Given the description of an element on the screen output the (x, y) to click on. 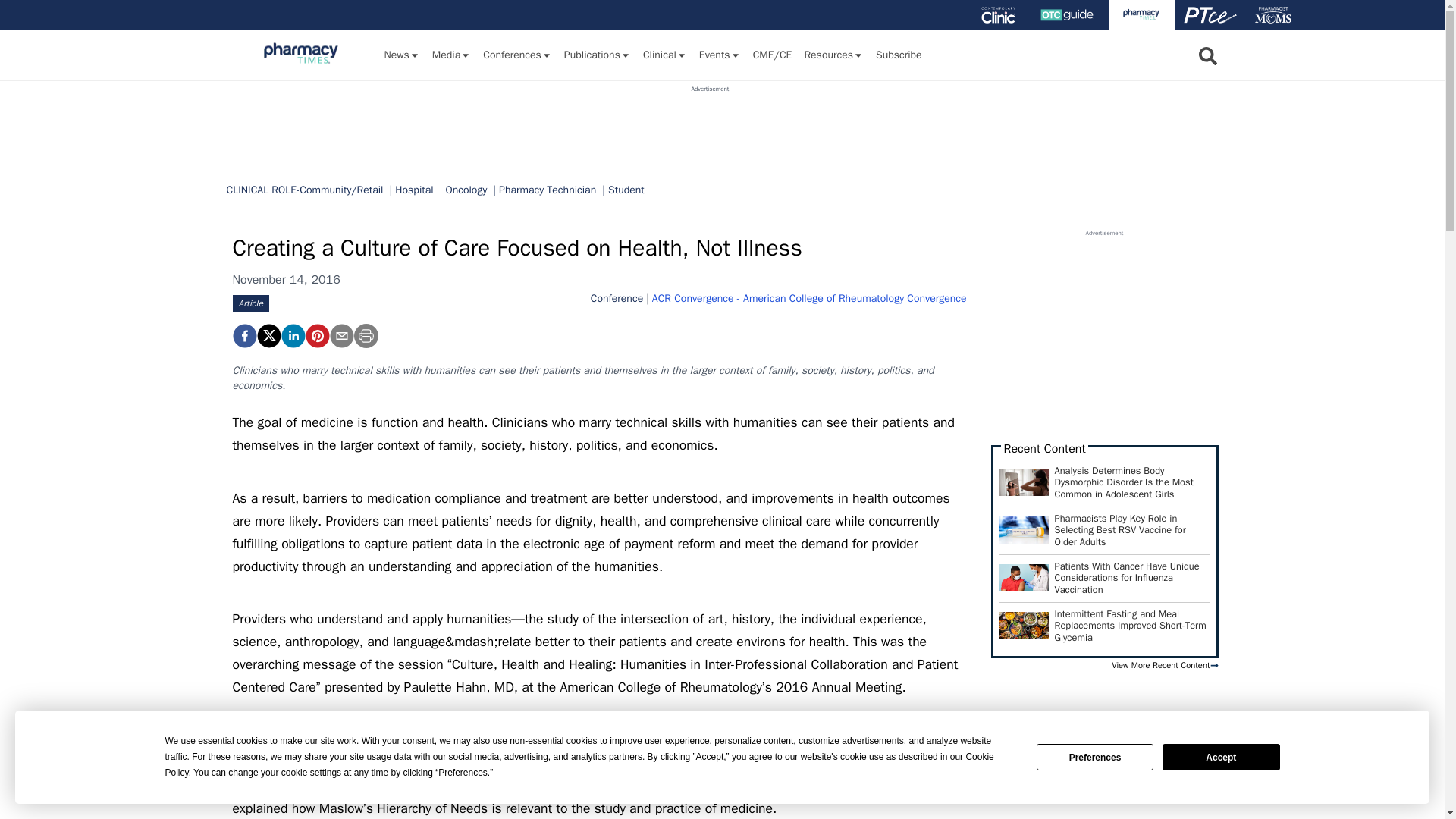
Creating a Culture of Care Focused on Health, Not Illness (243, 335)
3rd party ad content (709, 127)
Preferences (1094, 756)
Creating a Culture of Care Focused on Health, Not Illness (316, 335)
Accept (1220, 756)
